Given the description of an element on the screen output the (x, y) to click on. 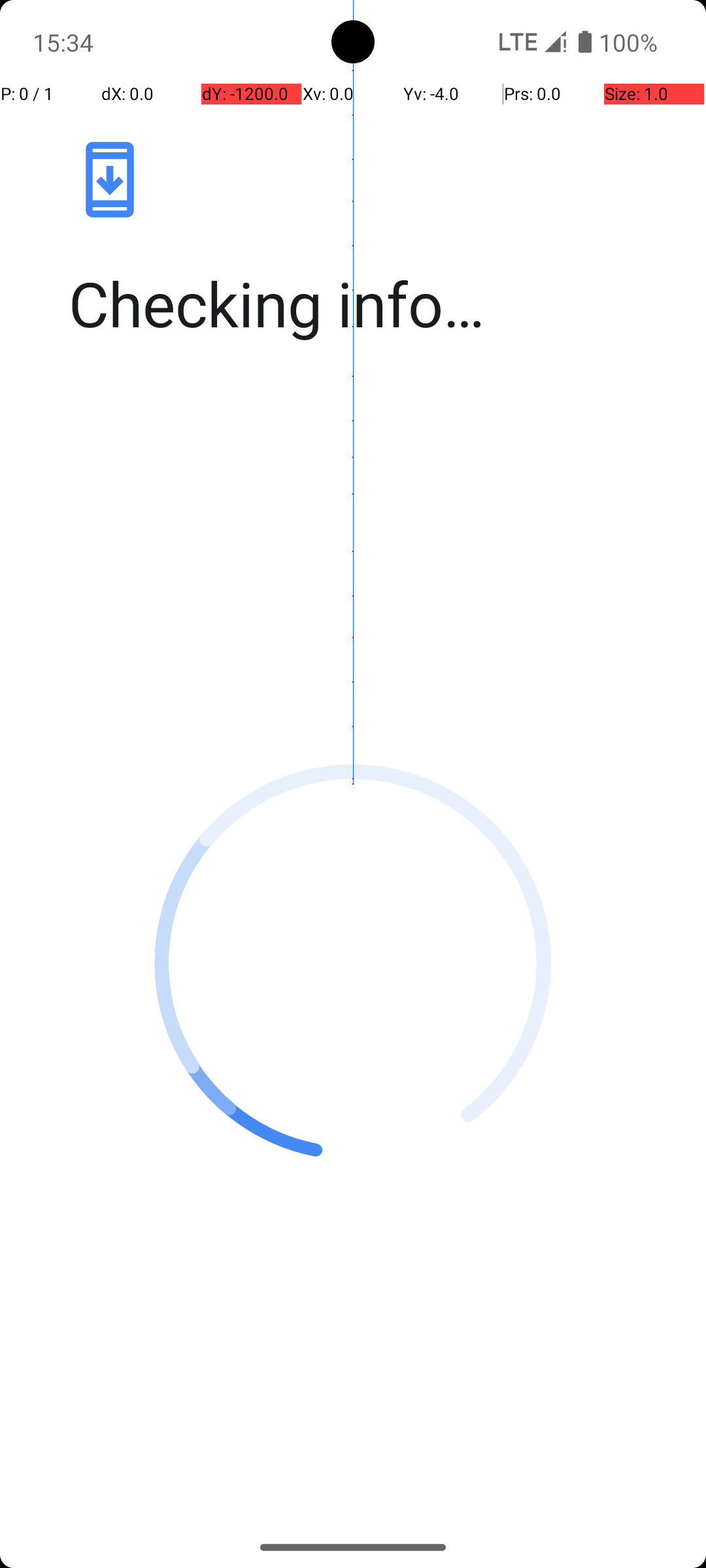
Checking info… Element type: android.widget.TextView (366, 302)
